Given the description of an element on the screen output the (x, y) to click on. 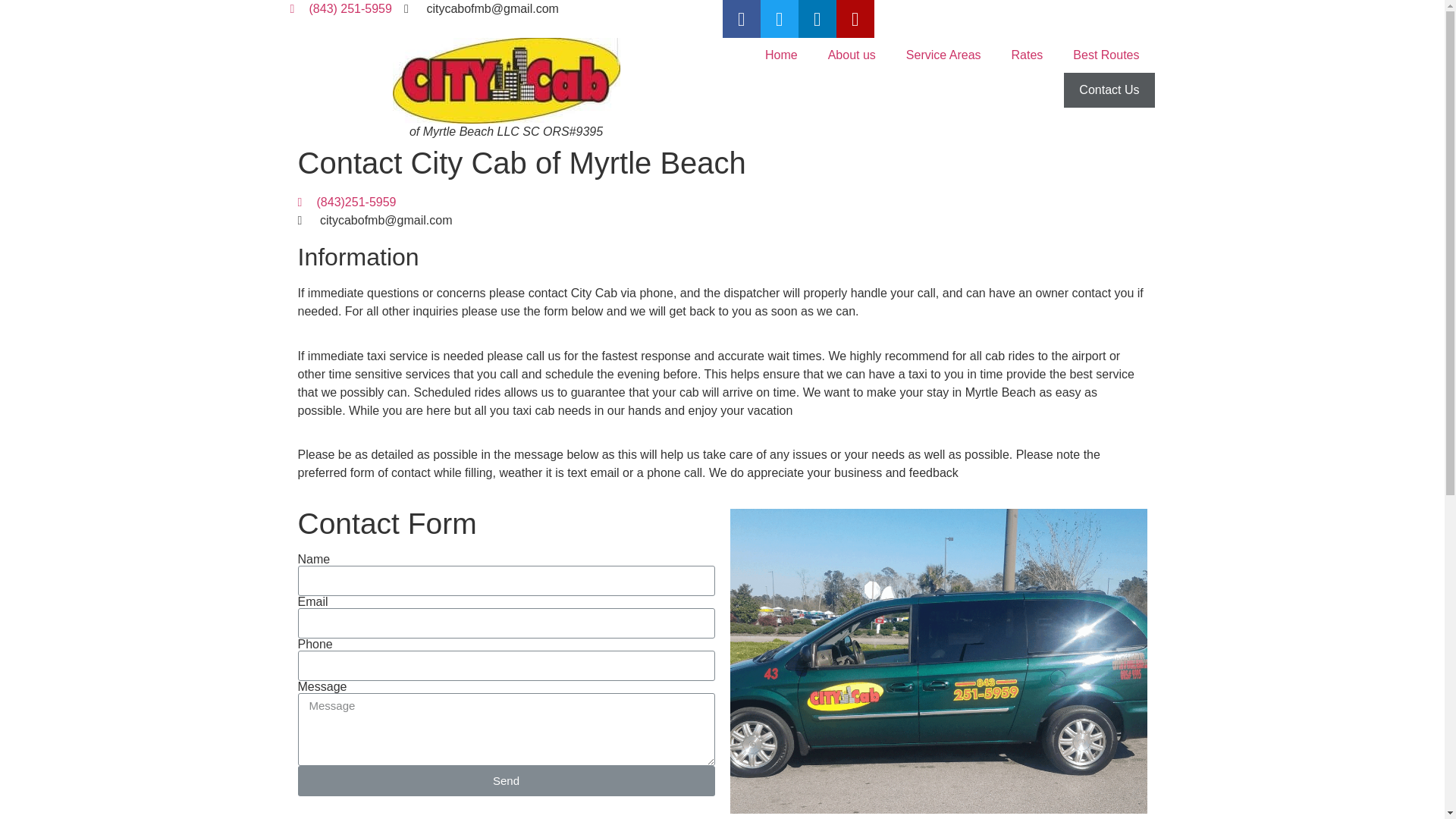
Rates (1026, 54)
Contact Us (1109, 89)
About us (851, 54)
Best Routes (1106, 54)
Send (505, 780)
Home (780, 54)
Service Areas (943, 54)
